Given the description of an element on the screen output the (x, y) to click on. 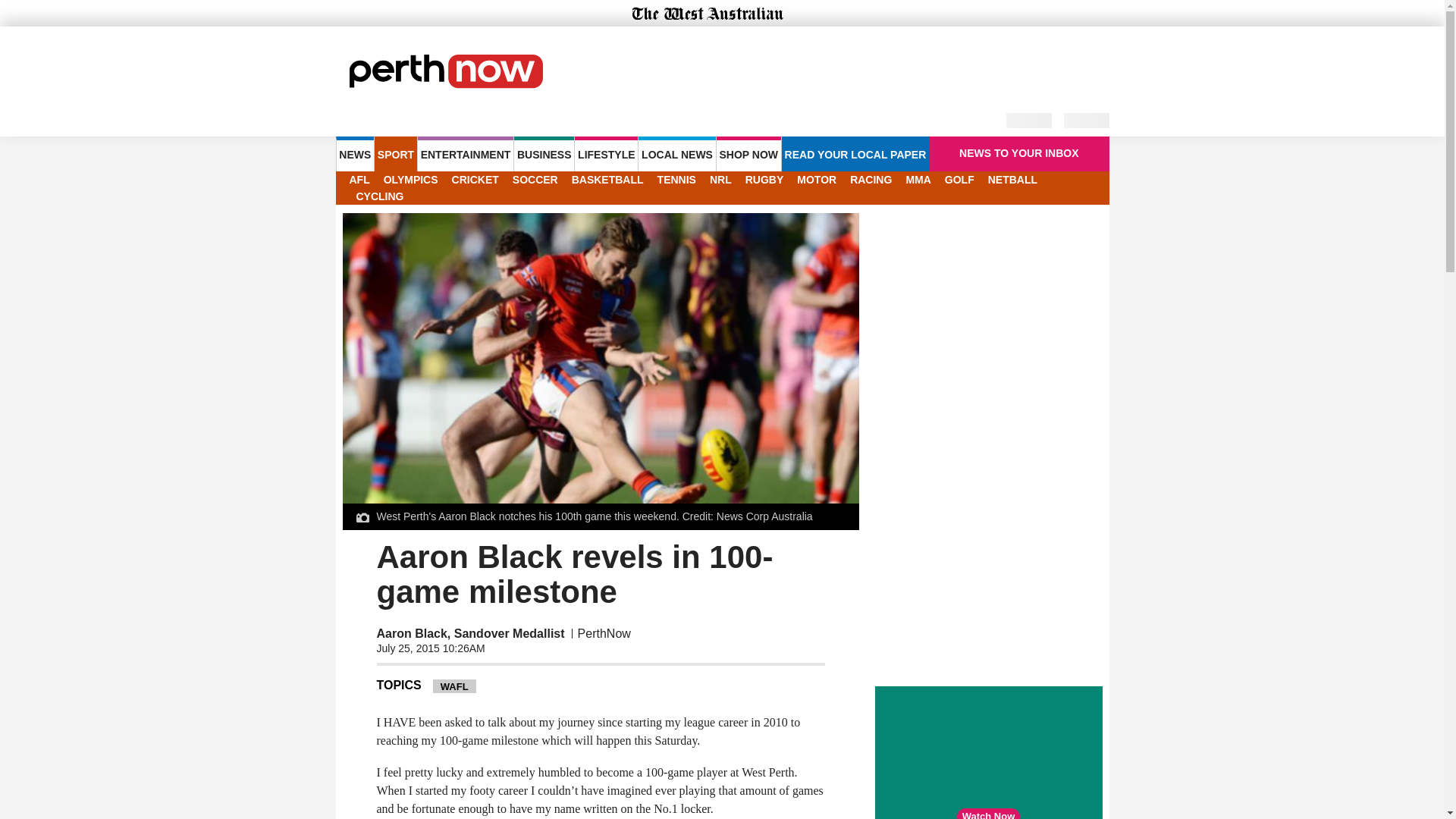
SPORT (395, 153)
NEWS (354, 153)
BUSINESS (543, 153)
ENTERTAINMENT (465, 153)
